Given the description of an element on the screen output the (x, y) to click on. 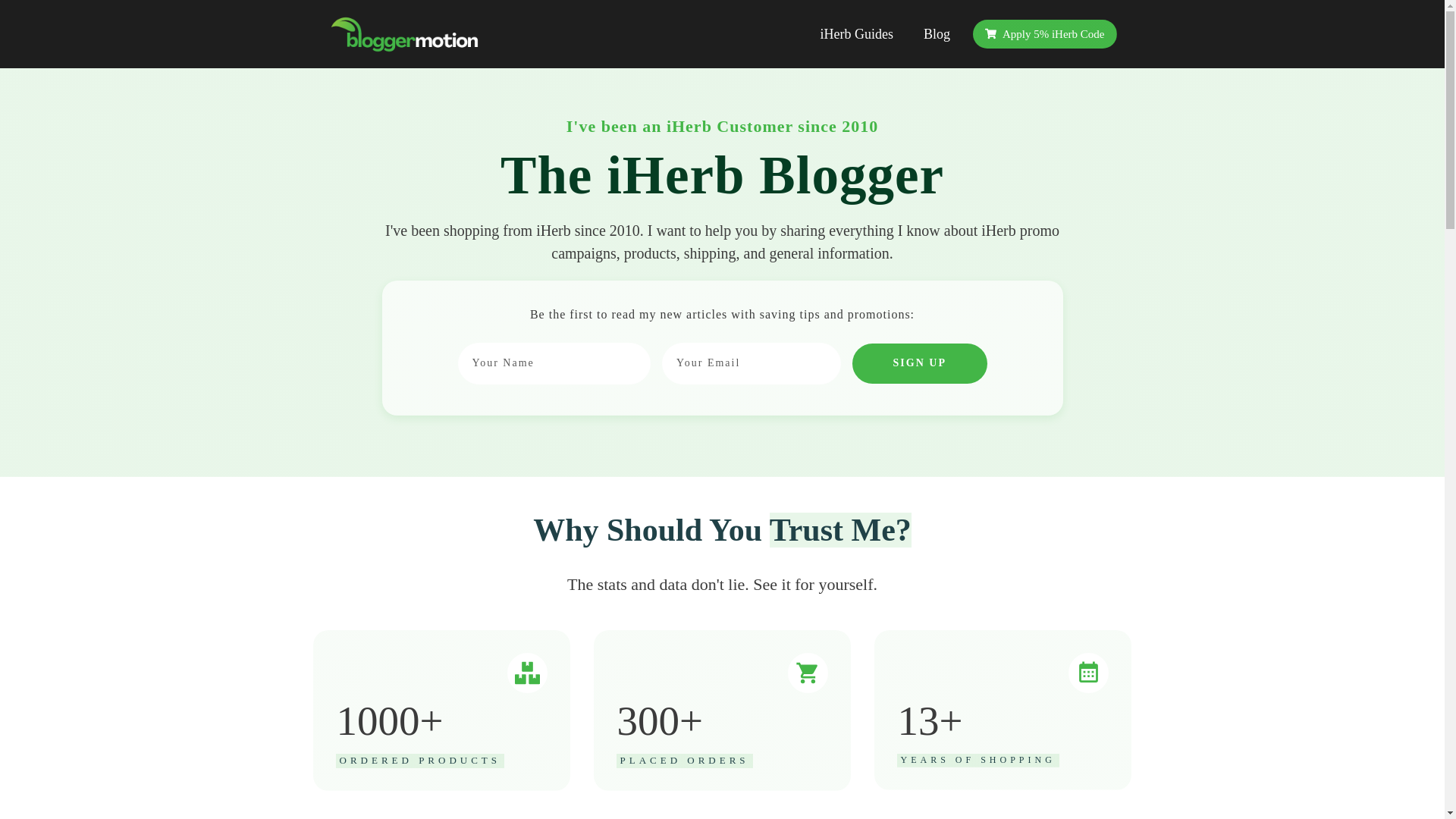
iHerb Guides (855, 33)
SIGN UP (919, 363)
Blog (936, 33)
